Given the description of an element on the screen output the (x, y) to click on. 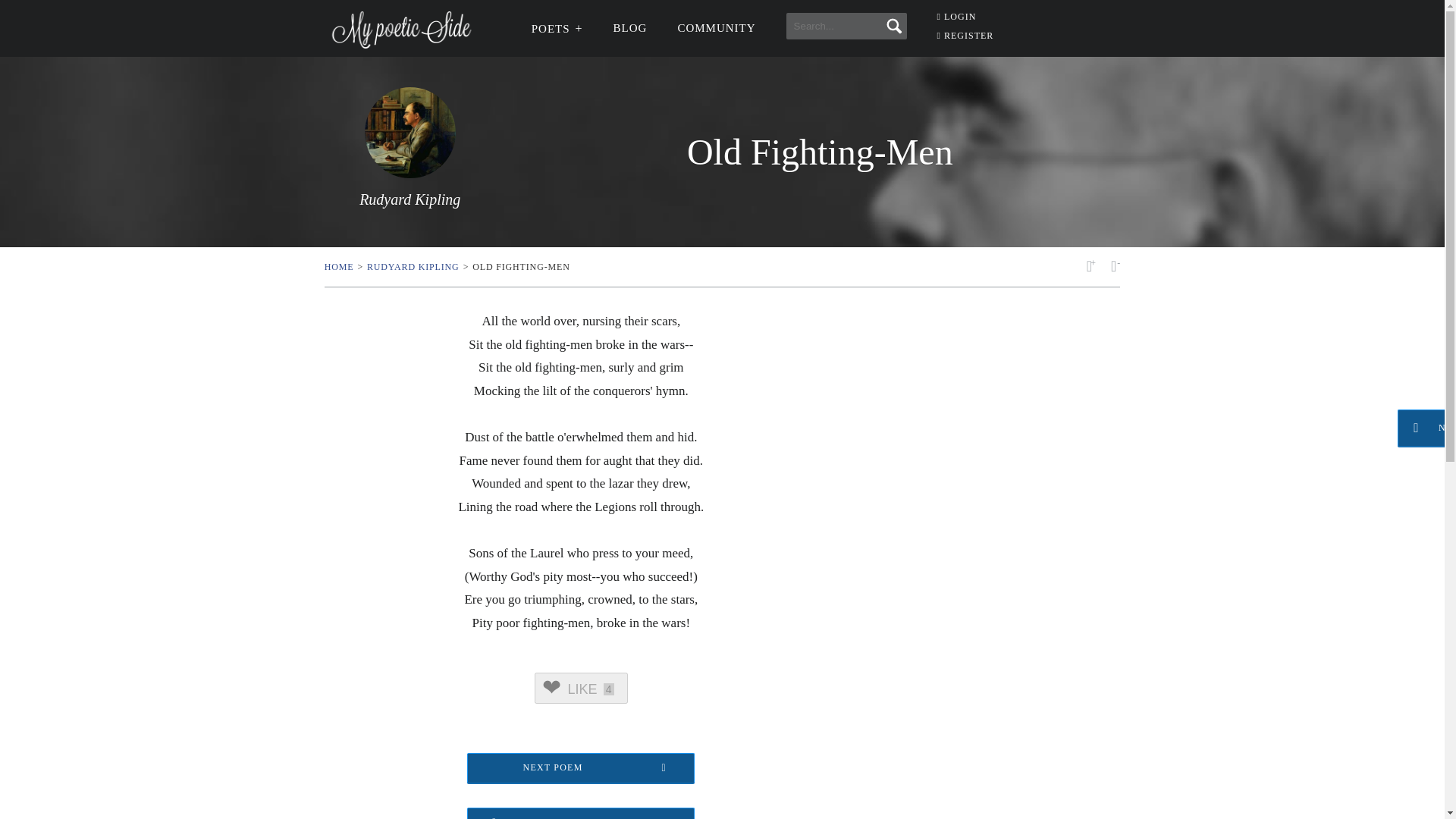
 LOGIN (956, 16)
 REGISTER (965, 35)
